Given the description of an element on the screen output the (x, y) to click on. 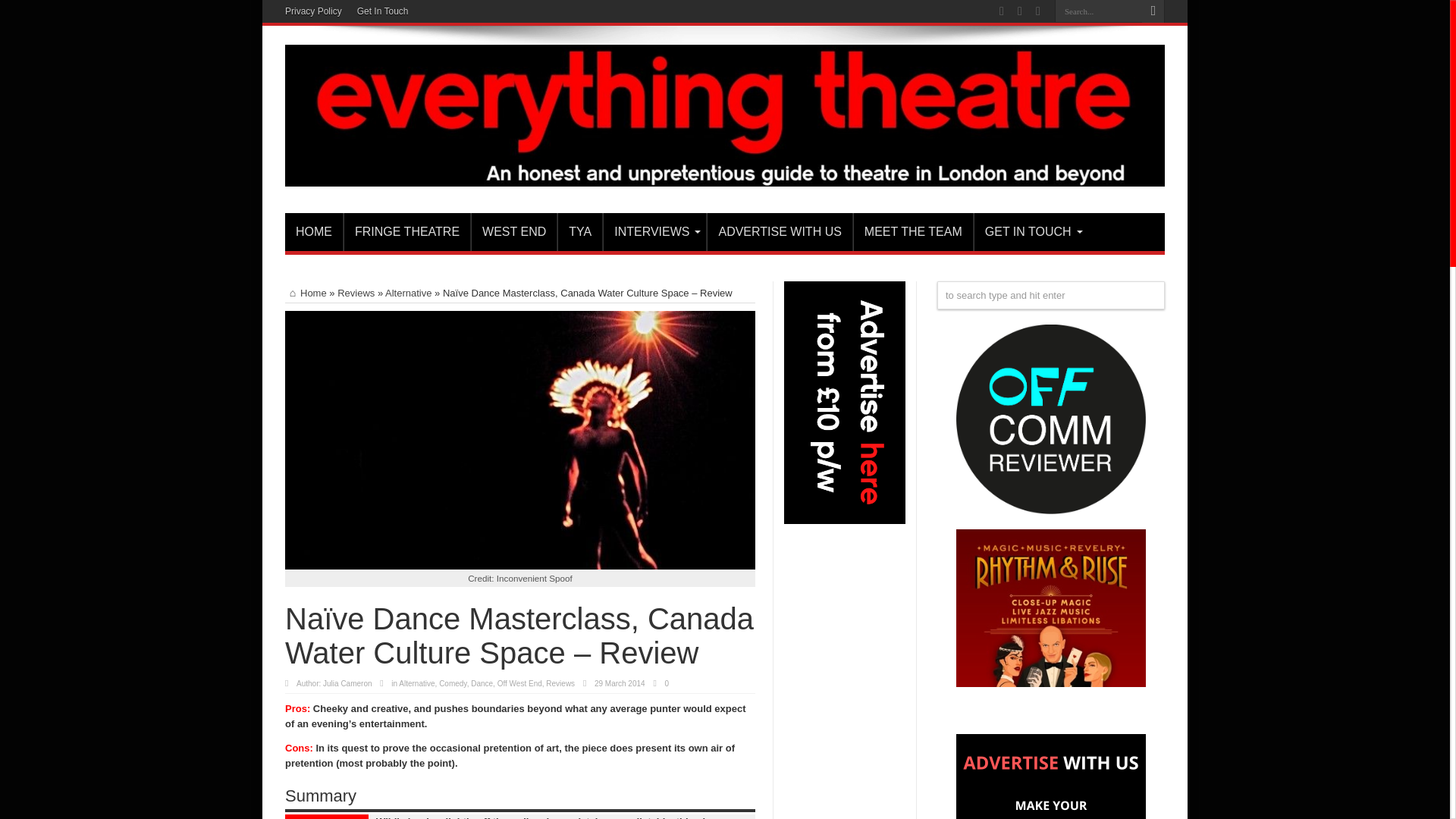
Search... (1097, 11)
Search (1152, 11)
GET IN TOUCH (1030, 231)
Alternative (415, 683)
Comedy (453, 683)
Get In Touch (382, 11)
TYA (579, 231)
INTERVIEWS (654, 231)
FRINGE THEATRE (406, 231)
Privacy Policy (313, 11)
Home (305, 292)
WEST END (513, 231)
Dance (481, 683)
ADVERTISE WITH US (778, 231)
Off West End (519, 683)
